Given the description of an element on the screen output the (x, y) to click on. 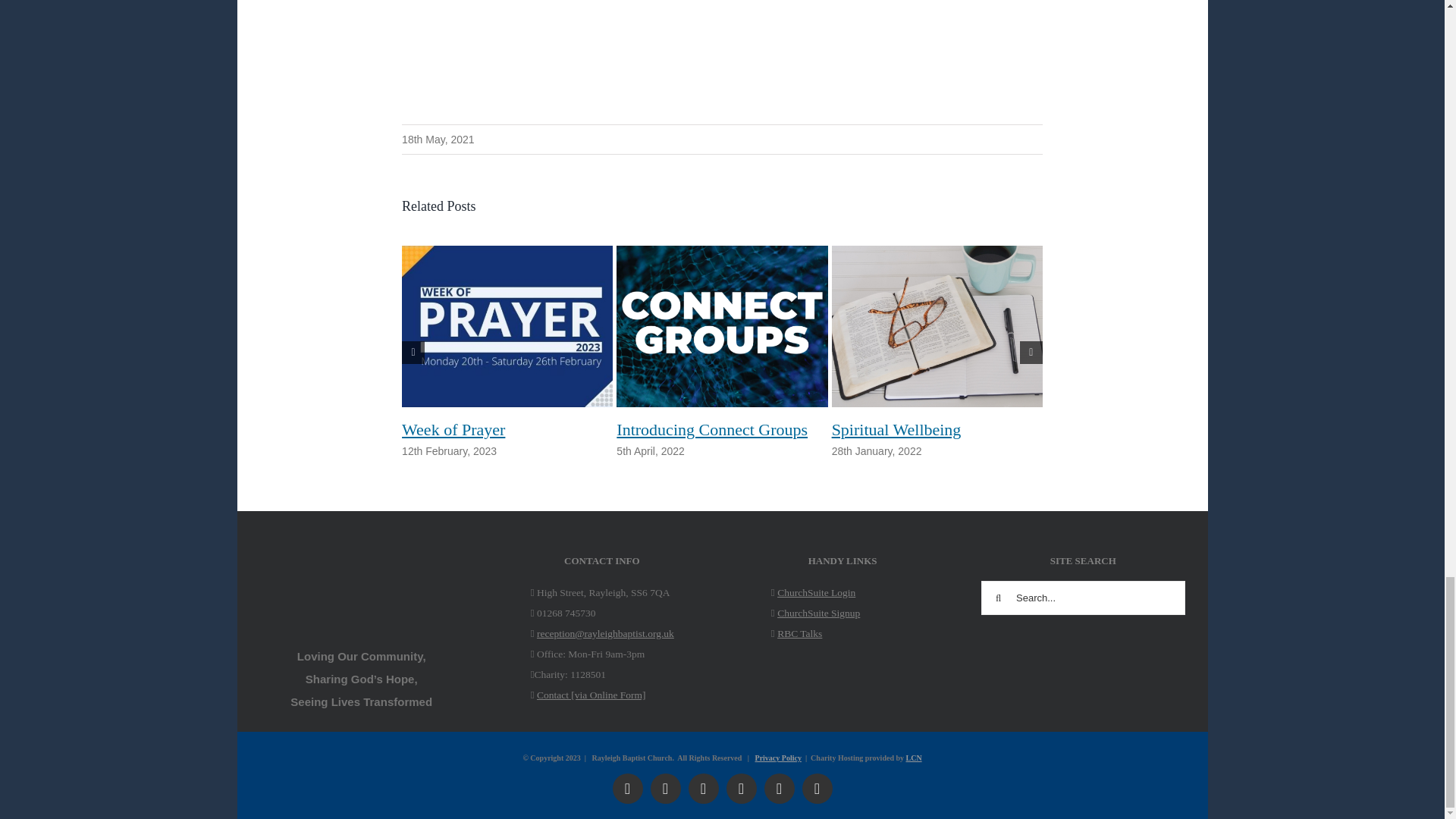
YouTube (703, 788)
Spotify (741, 788)
Email (779, 788)
Spiritual Wellbeing (895, 429)
Phone (817, 788)
Instagram (665, 788)
Facebook (627, 788)
Introducing Connect Groups (711, 429)
Week of Prayer (453, 429)
